Given the description of an element on the screen output the (x, y) to click on. 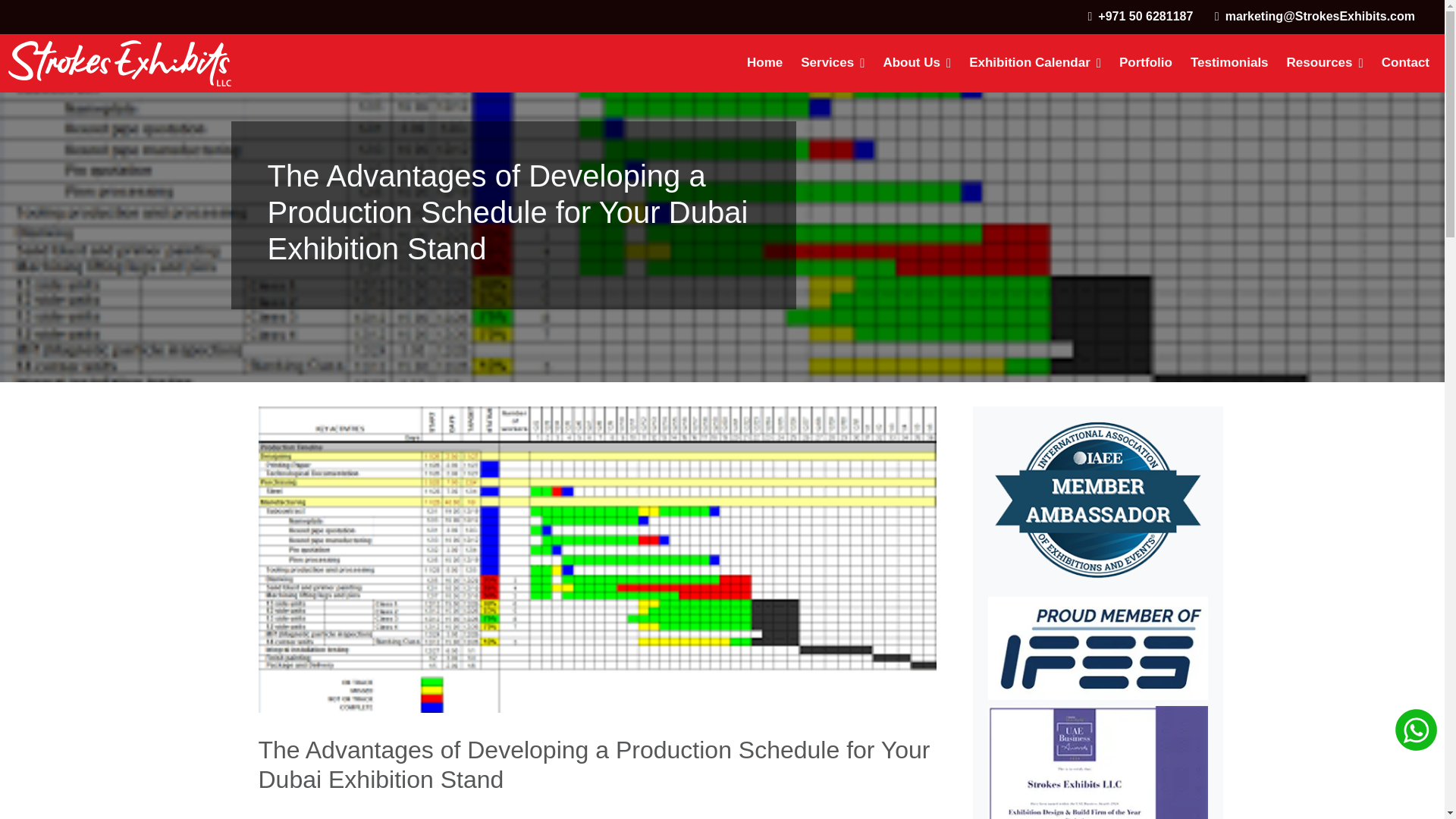
About Us (916, 62)
Home (765, 62)
Exhibition Calendar (1034, 62)
Services (832, 62)
